Given the description of an element on the screen output the (x, y) to click on. 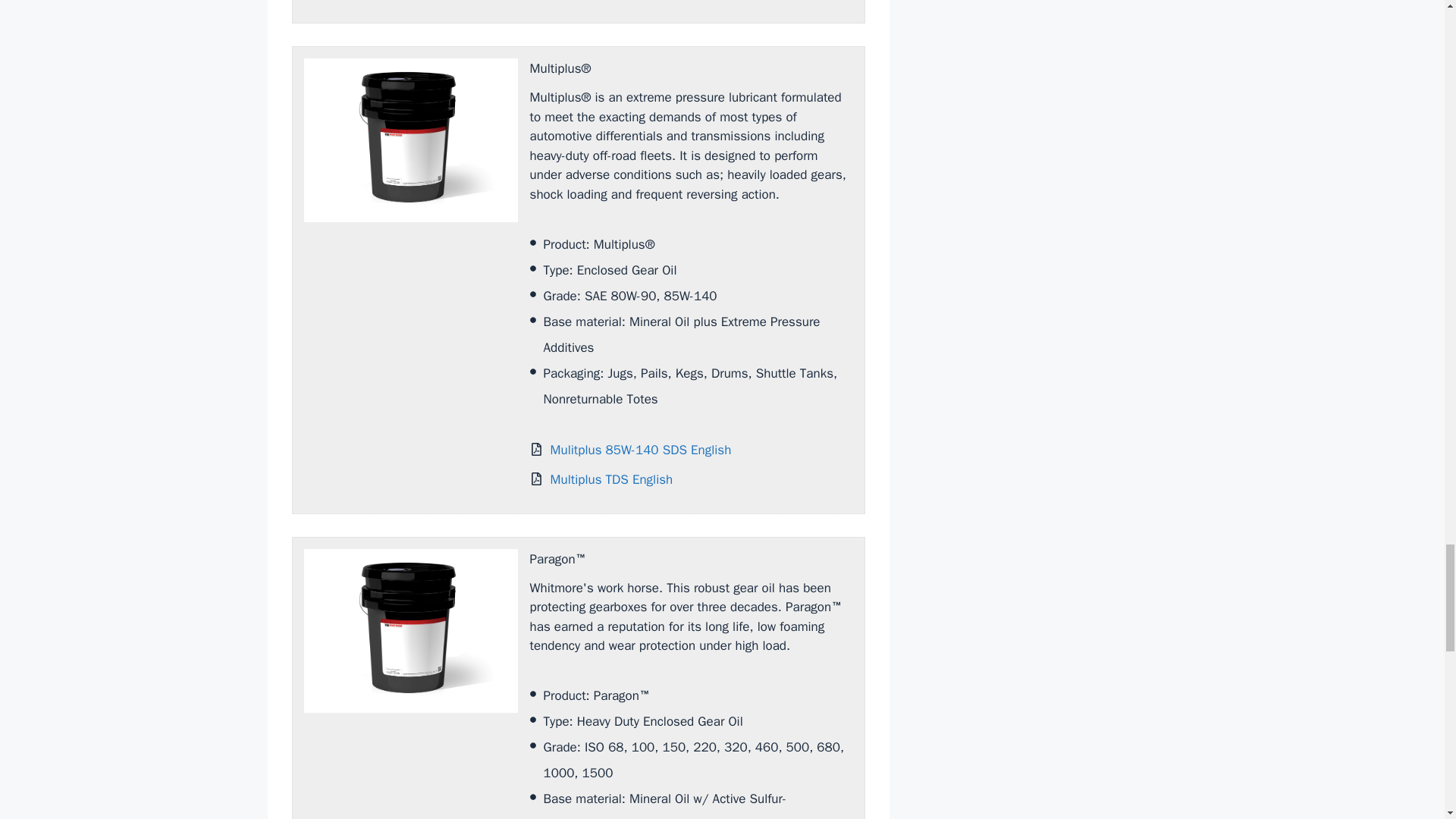
Whitmore Paragon Gear Oils (409, 630)
Whitmore Multiplus Gear Oils (409, 139)
